Given the description of an element on the screen output the (x, y) to click on. 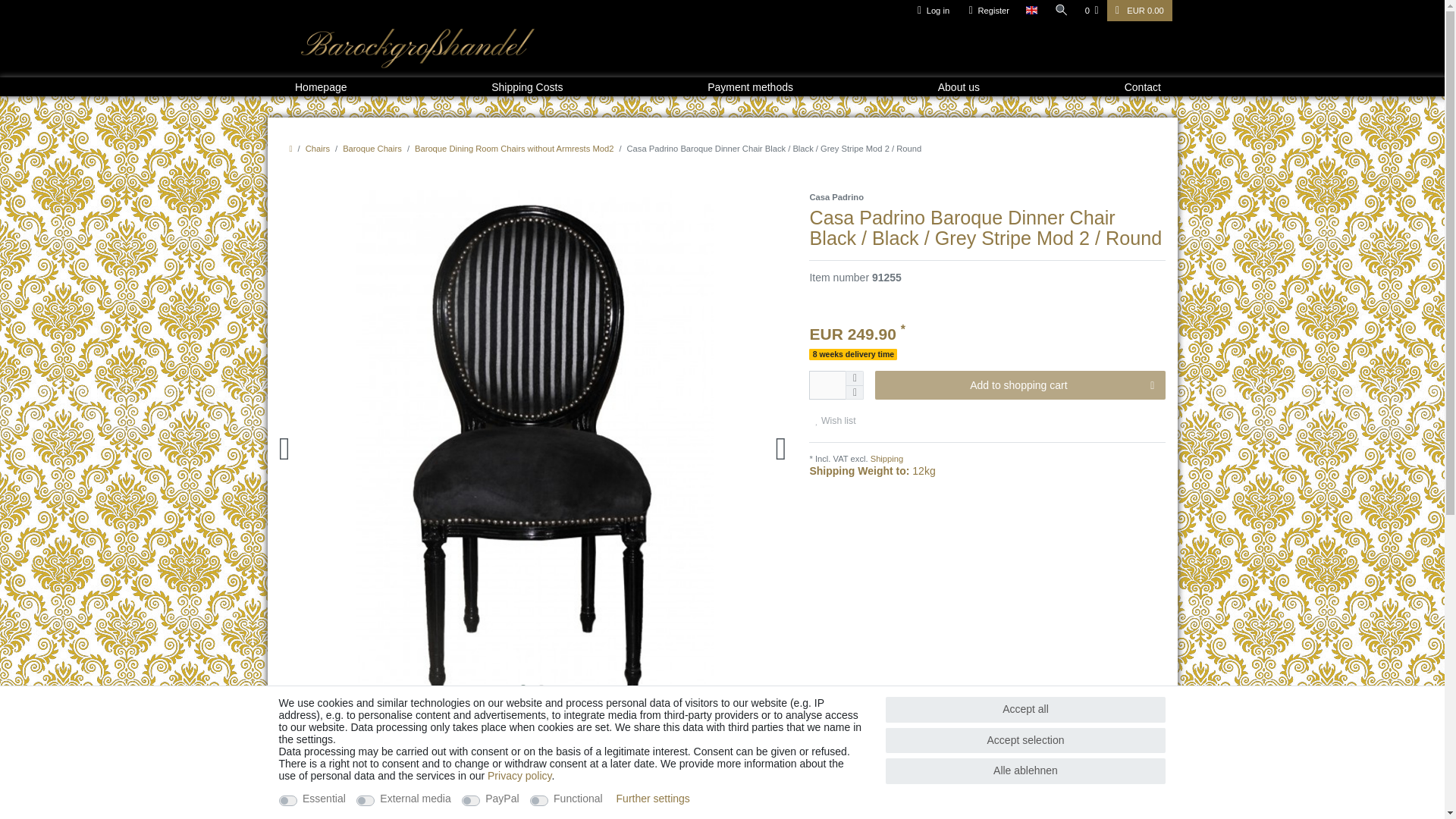
0 (1091, 10)
Add to shopping cart (1020, 385)
Chairs (317, 148)
EUR 0.00 (1139, 10)
Shipping (885, 458)
Baroque Chairs (371, 148)
Contact (1142, 86)
About us (958, 86)
Register (988, 10)
Log in (933, 10)
Wish list (835, 420)
Shipping (885, 458)
Privacy policy (519, 775)
Further settings (652, 798)
Baroque Dining Room Chairs without Armrests Mod2 (513, 148)
